Given the description of an element on the screen output the (x, y) to click on. 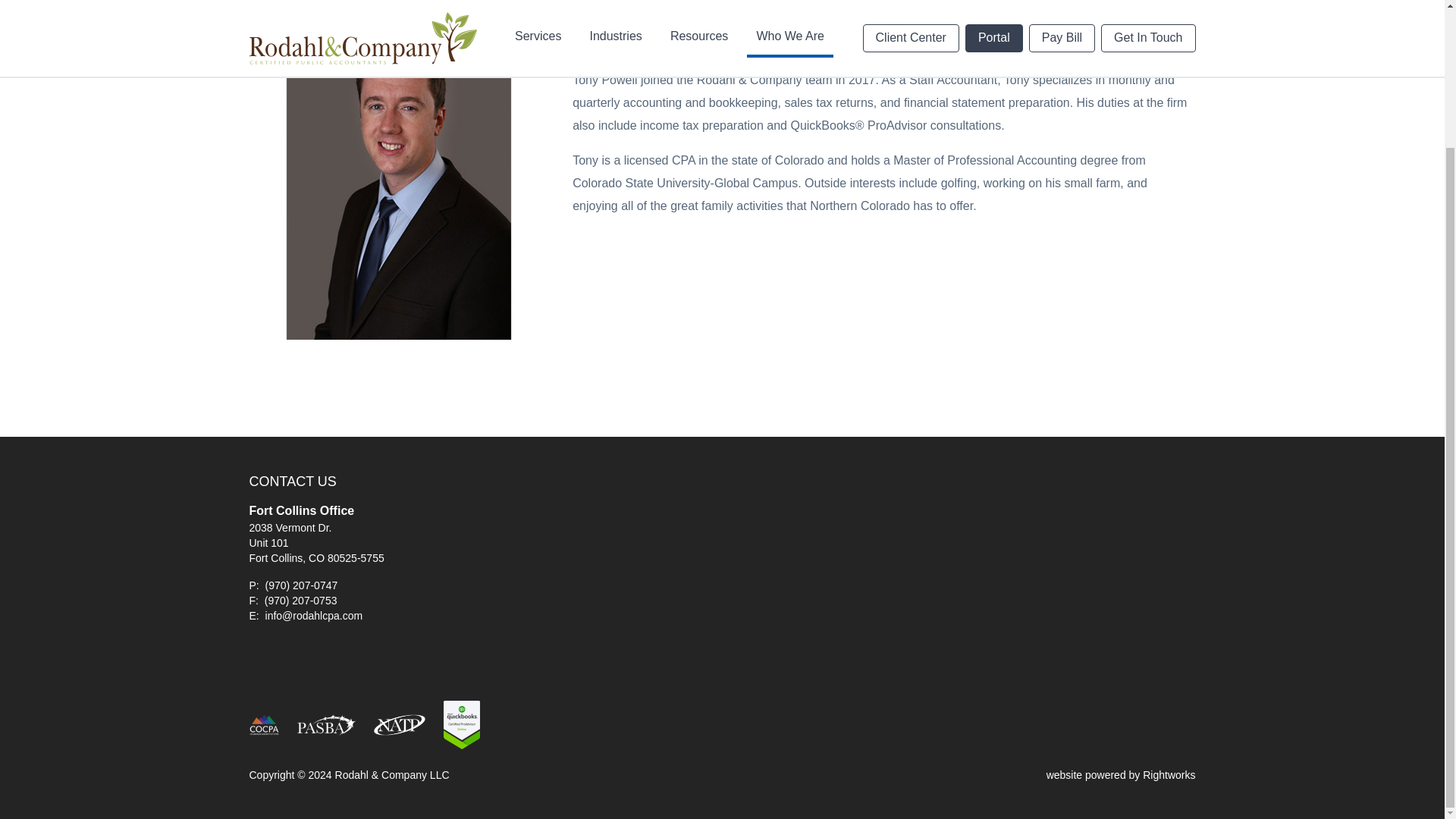
Learn more about Colorado Society of CPAs (263, 724)
Learn more about National Association of Tax Professionals (400, 724)
